Given the description of an element on the screen output the (x, y) to click on. 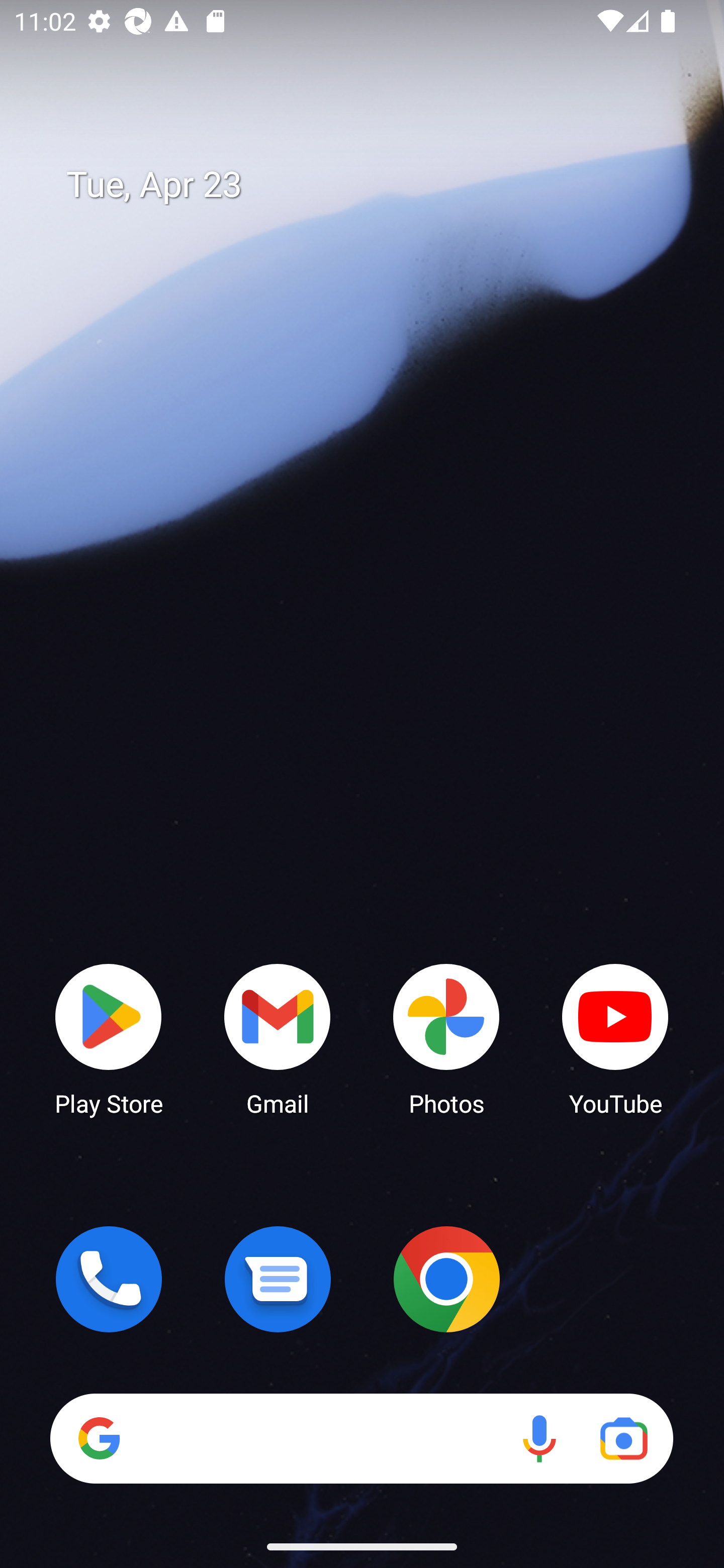
Tue, Apr 23 (375, 184)
Play Store (108, 1038)
Gmail (277, 1038)
Photos (445, 1038)
YouTube (615, 1038)
Phone (108, 1279)
Messages (277, 1279)
Chrome (446, 1279)
Search Voice search Google Lens (361, 1438)
Voice search (539, 1438)
Google Lens (623, 1438)
